Given the description of an element on the screen output the (x, y) to click on. 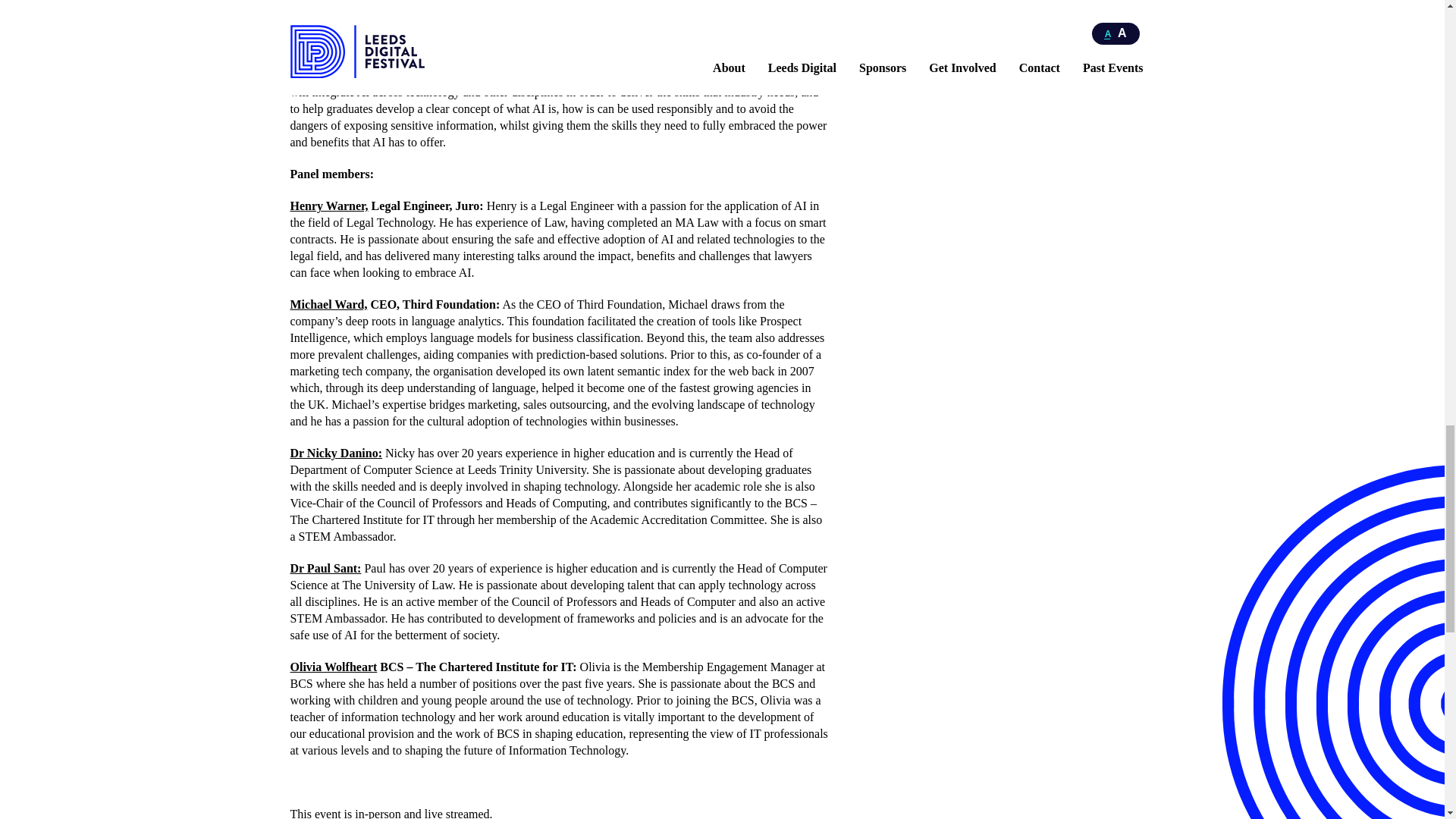
Olivia Wolfheart (333, 666)
Dr Paul Sant: (325, 567)
Michael Ward, (327, 304)
Henry Warner, (328, 205)
Dr Nicky Danino: (335, 452)
